Given the description of an element on the screen output the (x, y) to click on. 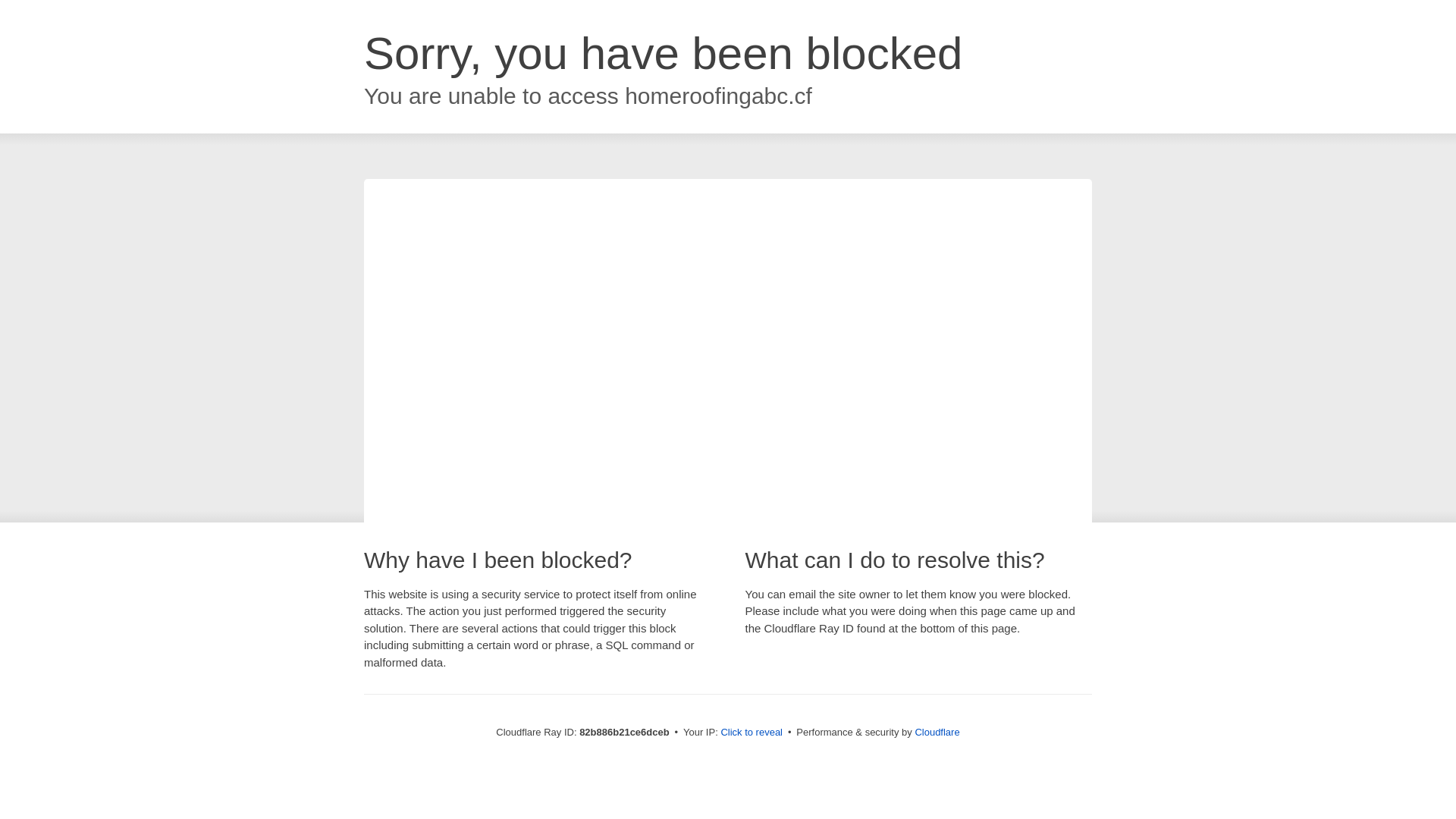
Cloudflare Element type: text (936, 731)
Click to reveal Element type: text (751, 732)
